Given the description of an element on the screen output the (x, y) to click on. 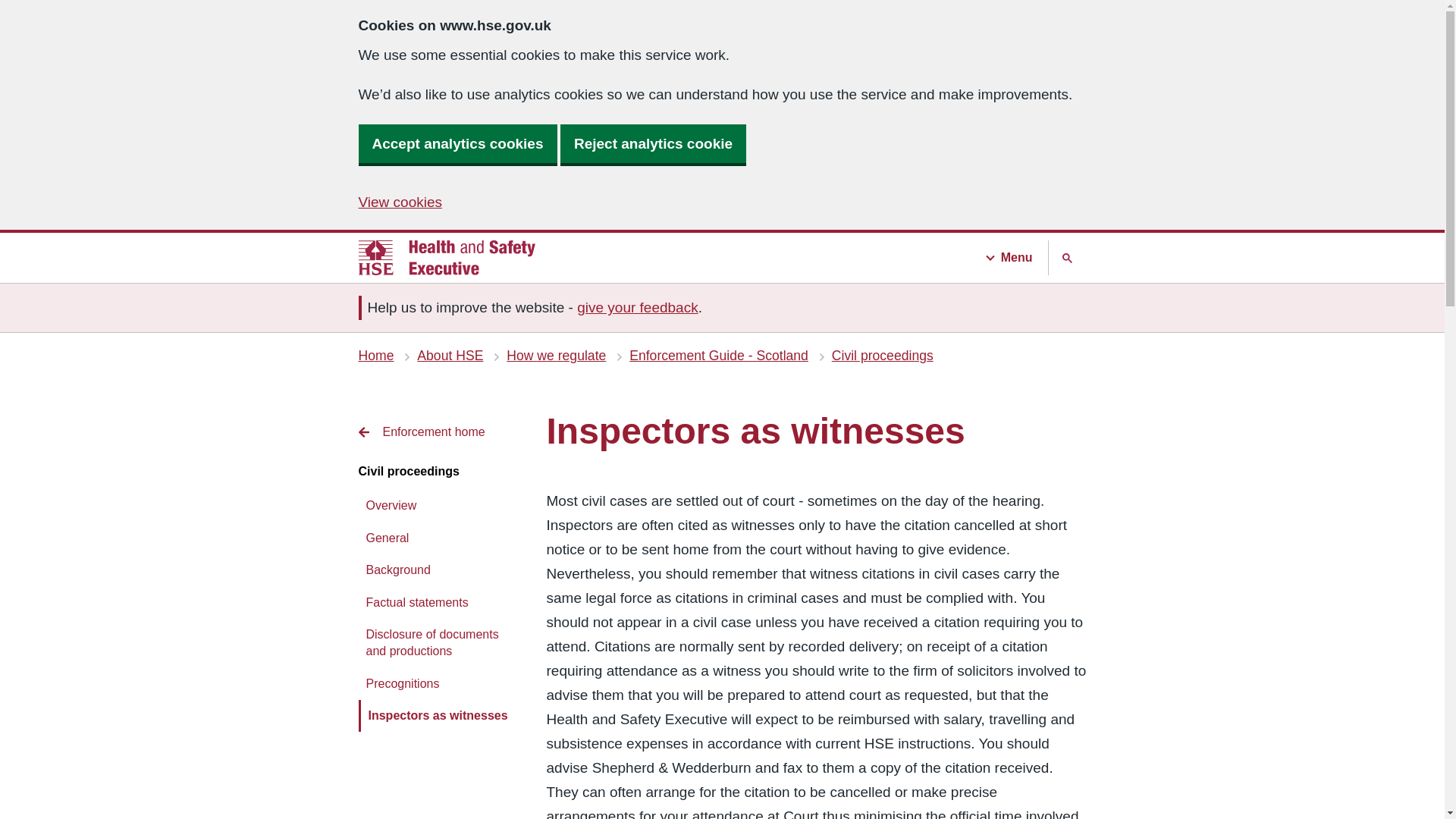
View cookies (400, 201)
search (1067, 257)
The role of Crown Office and the Procurator Fiscal Service (275, 507)
Back to Enforcement home (439, 432)
Accept analytics cookies (457, 143)
About HSE (449, 355)
give your feedback (637, 307)
Skip to content (30, 9)
Reject analytics cookie (652, 143)
How we regulate (555, 355)
Menu (1014, 257)
search (1066, 257)
Home (375, 355)
